Given the description of an element on the screen output the (x, y) to click on. 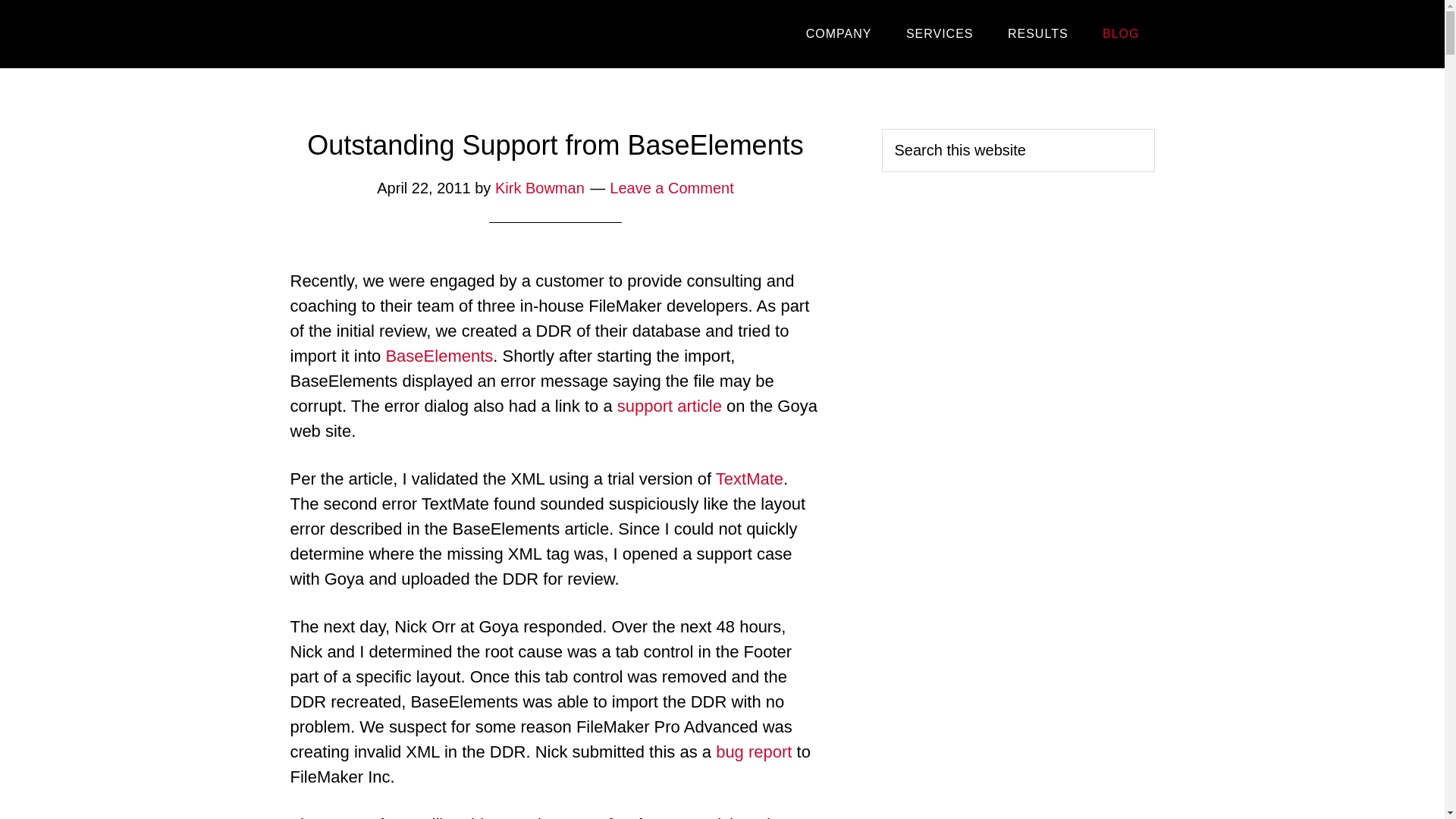
BaseElements (439, 355)
SERVICES (939, 33)
BLOG (1120, 33)
TextMate (749, 478)
bug report (754, 751)
Outstanding Support from BaseElements (555, 144)
Leave a Comment (671, 187)
MIGHTYDATA (425, 26)
COMPANY (838, 33)
